Given the description of an element on the screen output the (x, y) to click on. 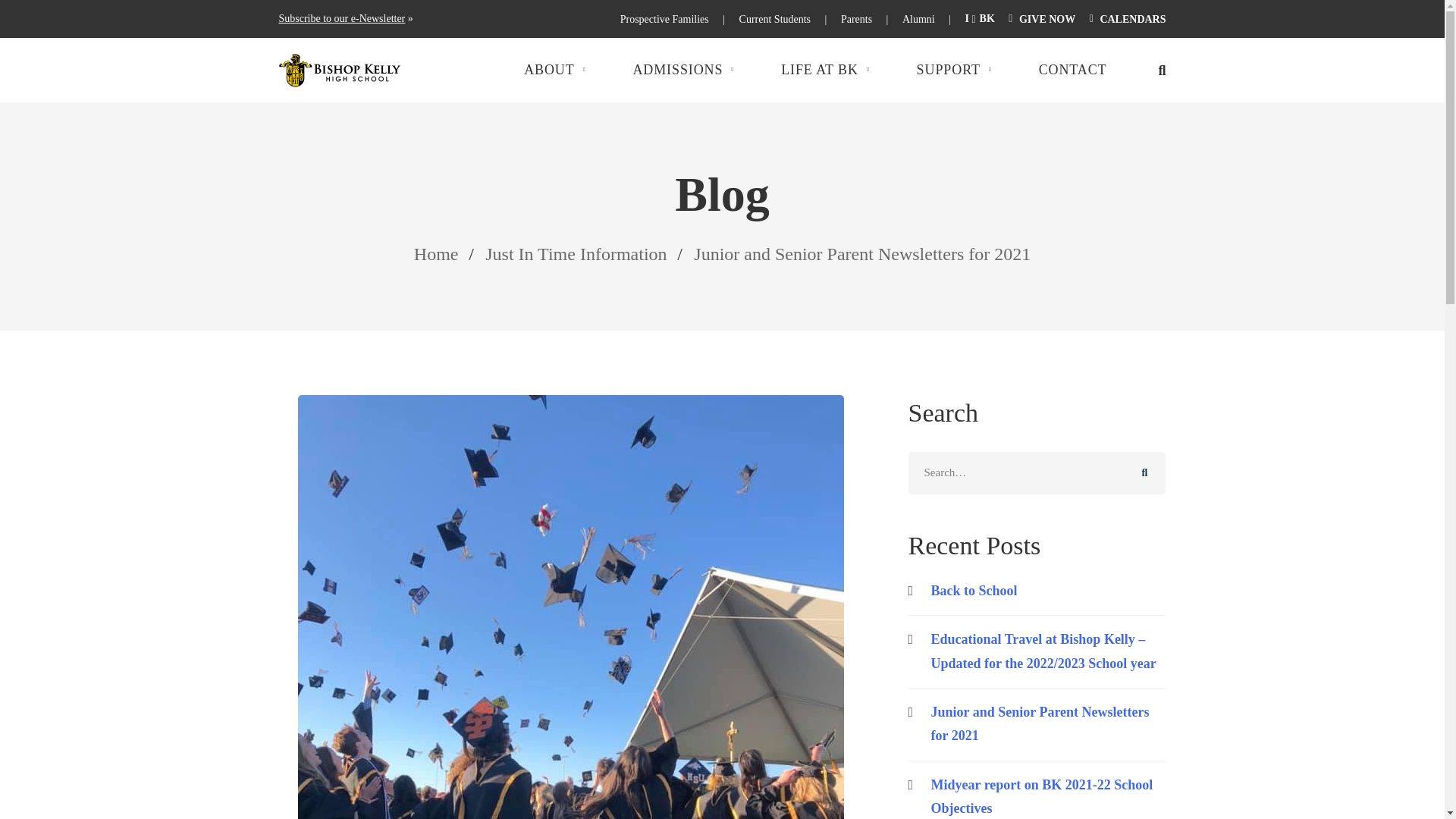
I BK (979, 19)
CALENDARS (1127, 19)
Prospective Families (664, 19)
ABOUT (566, 69)
ADMISSIONS (694, 69)
Alumni (918, 19)
Parents (856, 19)
Current Students (774, 19)
Search for: (1037, 473)
LIFE AT BK (836, 69)
